Given the description of an element on the screen output the (x, y) to click on. 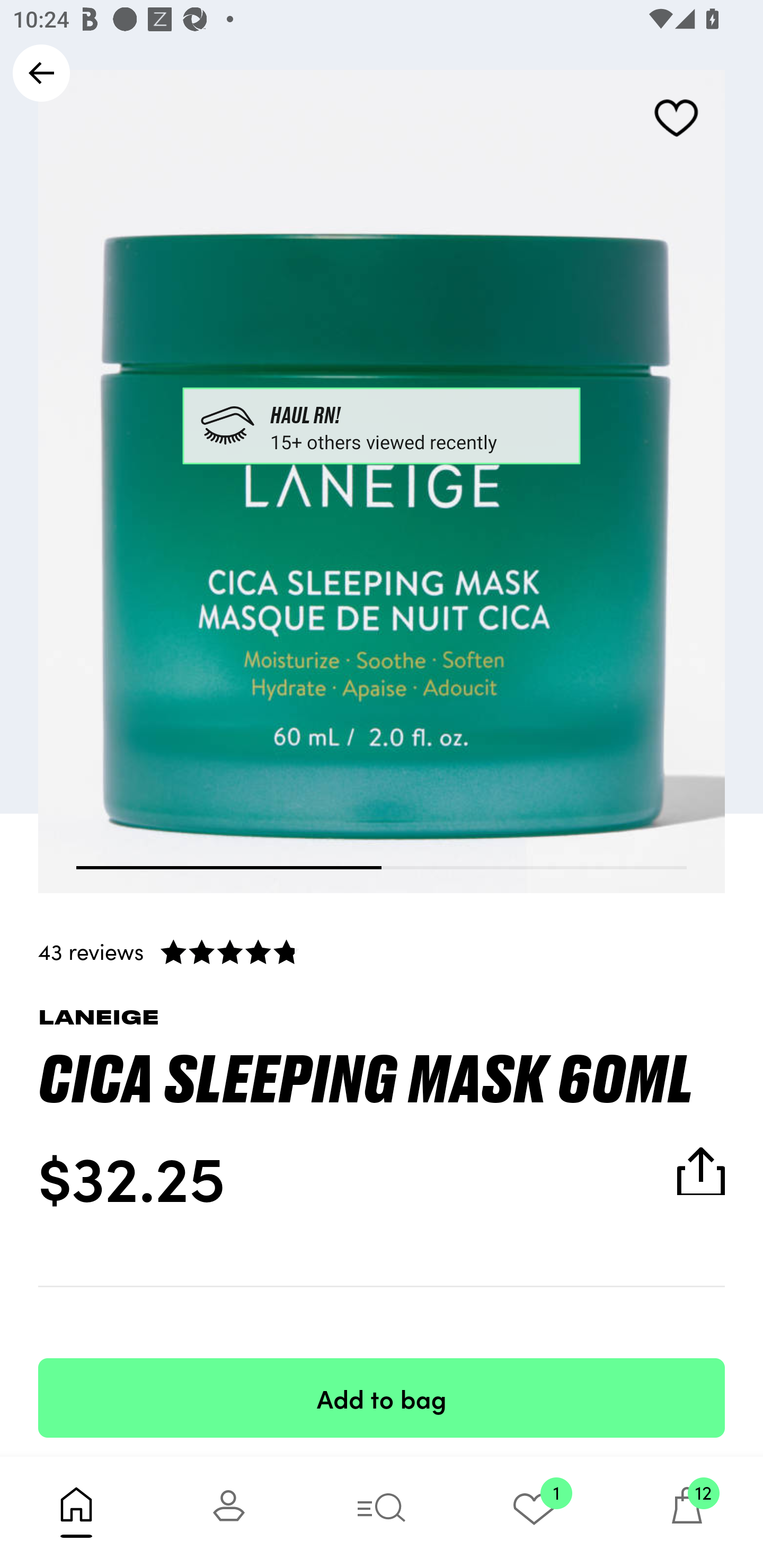
43 reviews (381, 950)
Add to bag (381, 1397)
1 (533, 1512)
12 (686, 1512)
